Given the description of an element on the screen output the (x, y) to click on. 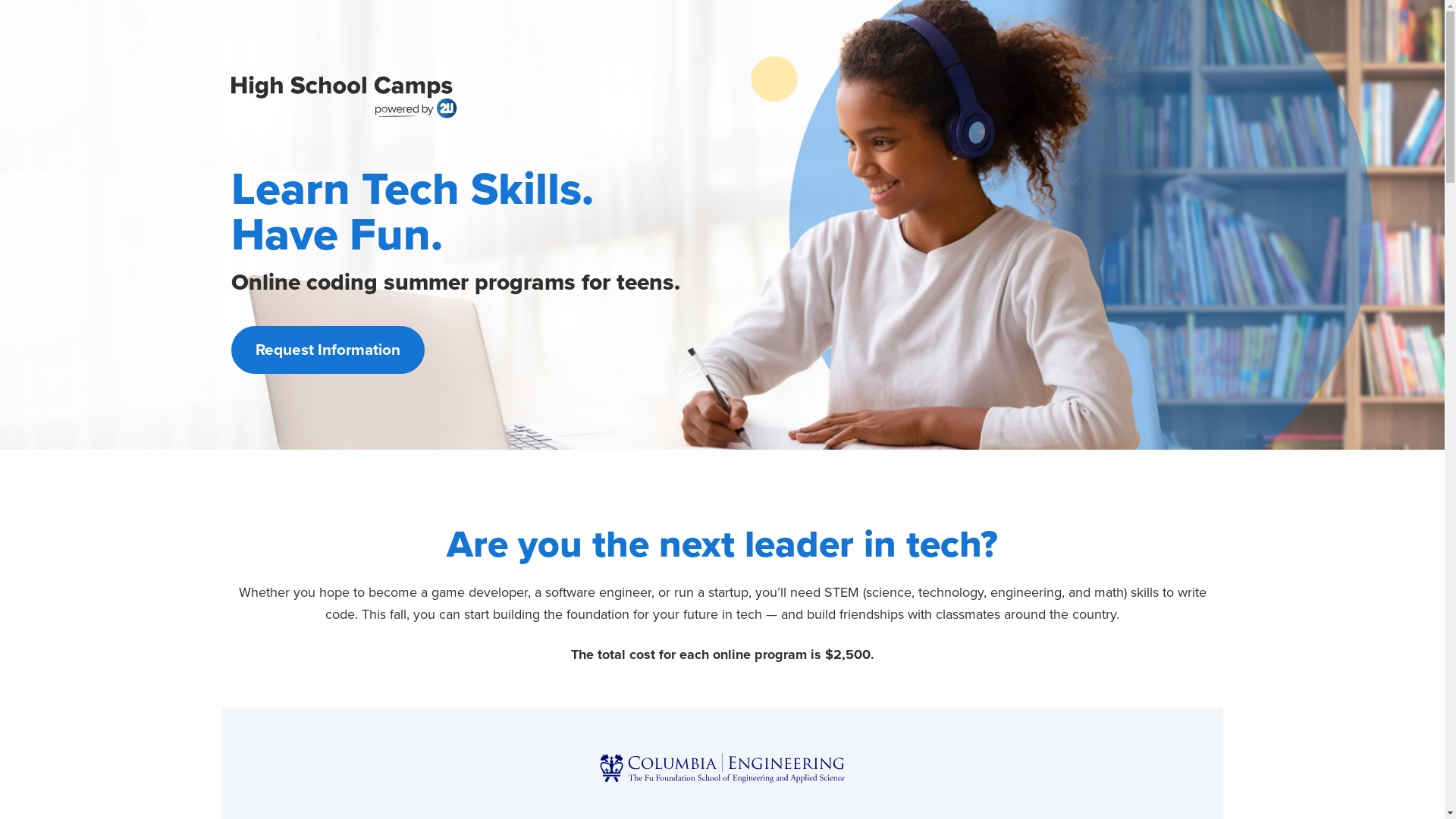
Request Information Element type: text (327, 349)
